Given the description of an element on the screen output the (x, y) to click on. 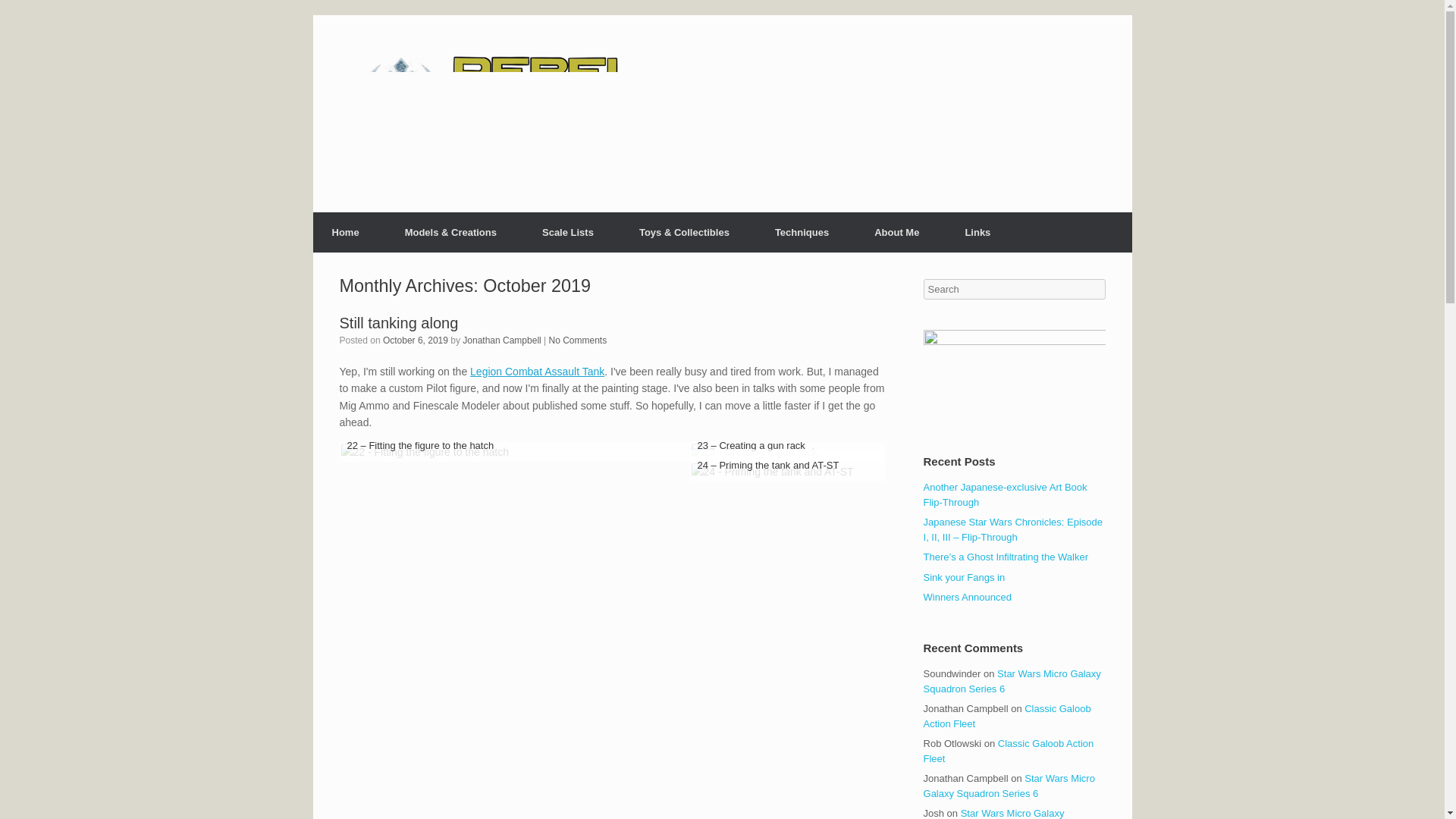
wip-legion-assault-tank-23 (424, 451)
Rebel Scale (550, 113)
9:58 pm (415, 339)
wip-legion-assault-tank-24 (753, 451)
wip-legion-assault-tank-25 (772, 471)
Permalink to Still tanking along (398, 321)
View all posts by Jonathan Campbell (501, 339)
Scale Lists (567, 232)
Home (344, 232)
